Given the description of an element on the screen output the (x, y) to click on. 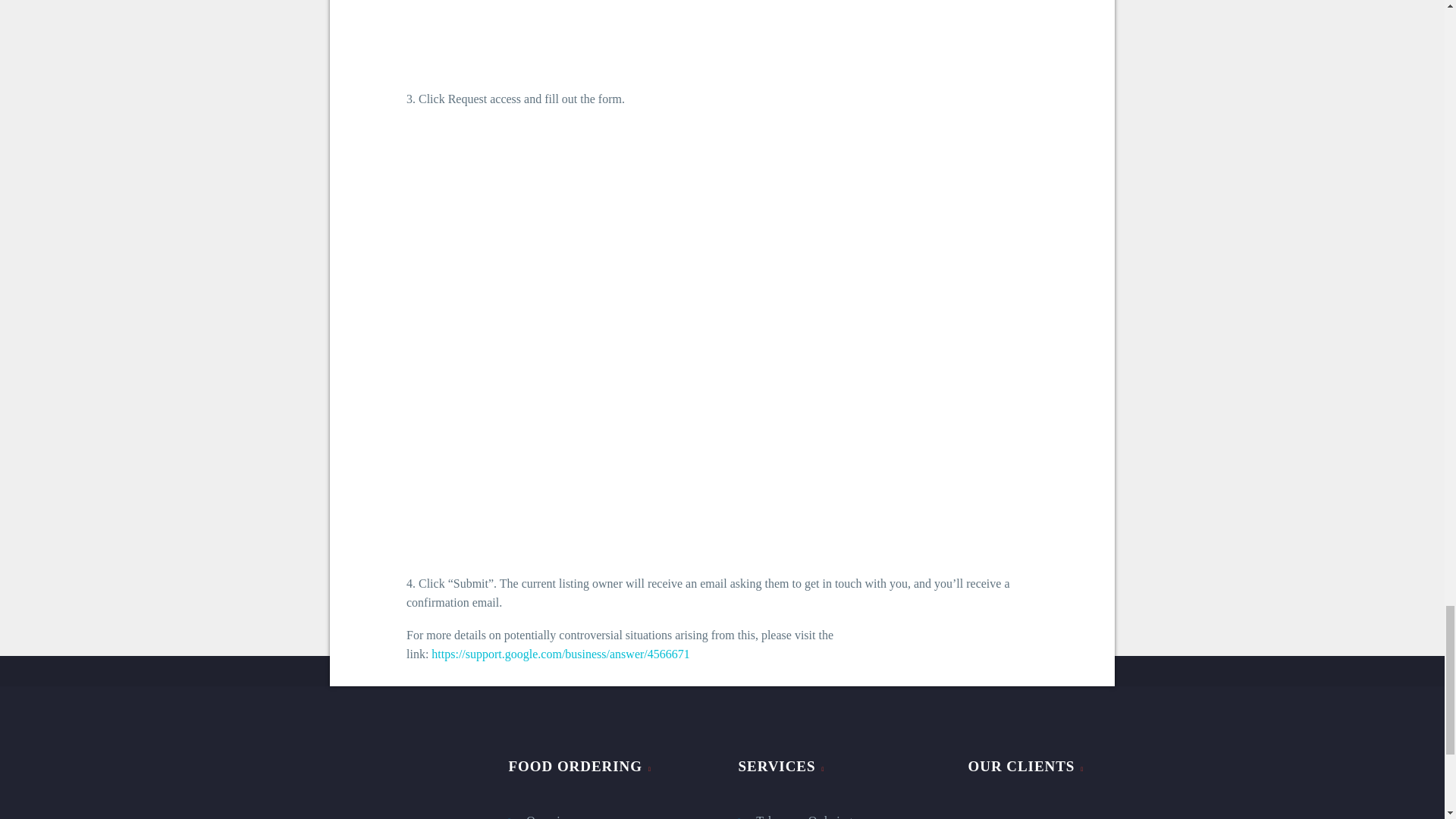
Overview (607, 815)
Takeaway Ordering (837, 815)
